Given the description of an element on the screen output the (x, y) to click on. 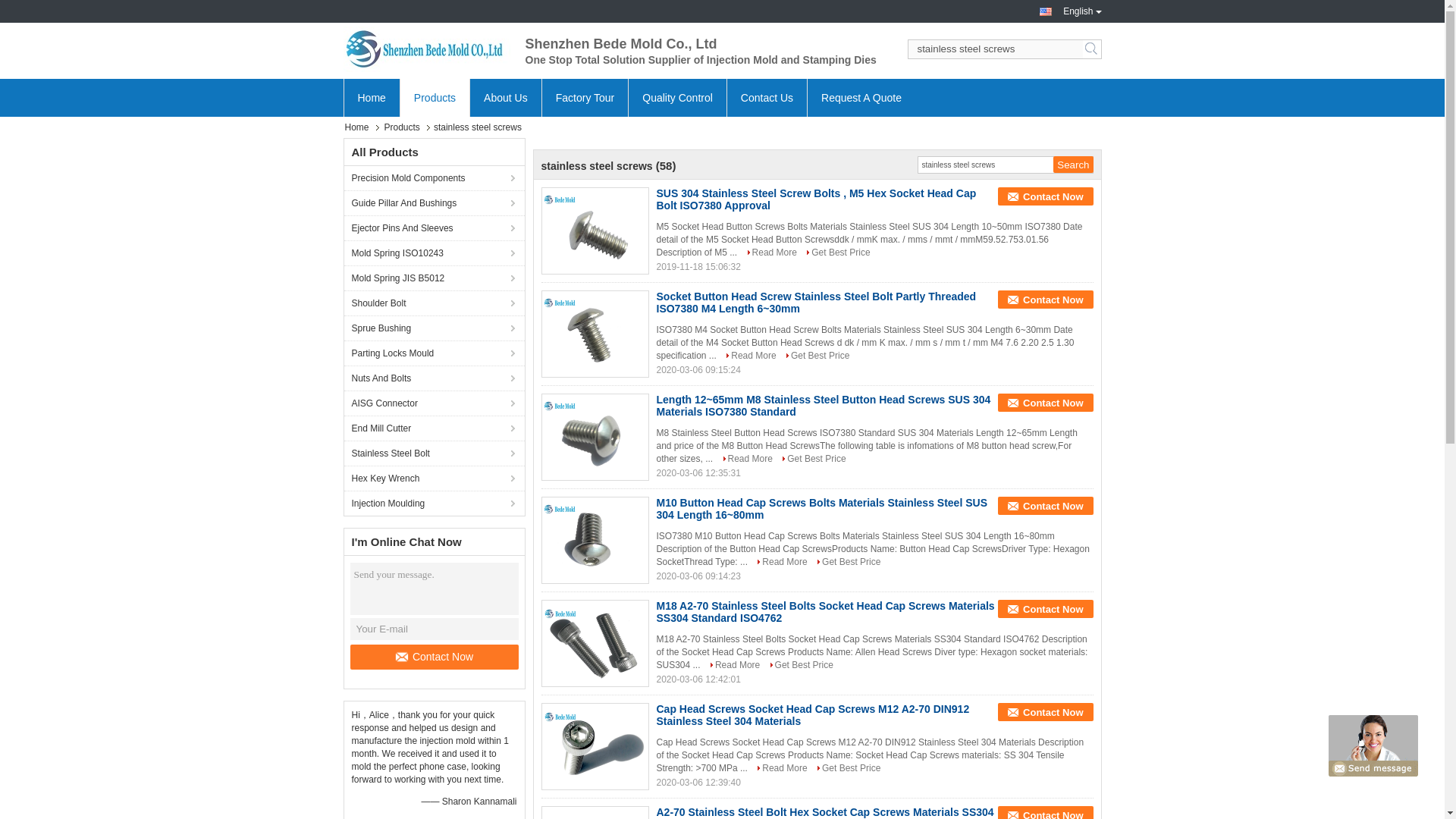
Factory Tour (584, 97)
Products (403, 127)
Products (433, 97)
Search (1092, 48)
Ejector Pins And Sleeves (433, 227)
Mold Spring JIS B5012 (433, 277)
Shenzhen Bede Mold Co., Ltd (425, 49)
Stainless Steel Bolt (433, 453)
About Us (504, 97)
Search (1072, 164)
Home (370, 97)
End Mill Cutter (433, 427)
Nuts And Bolts (433, 377)
Search (1072, 164)
Guide Pillar And Bushings (433, 202)
